Given the description of an element on the screen output the (x, y) to click on. 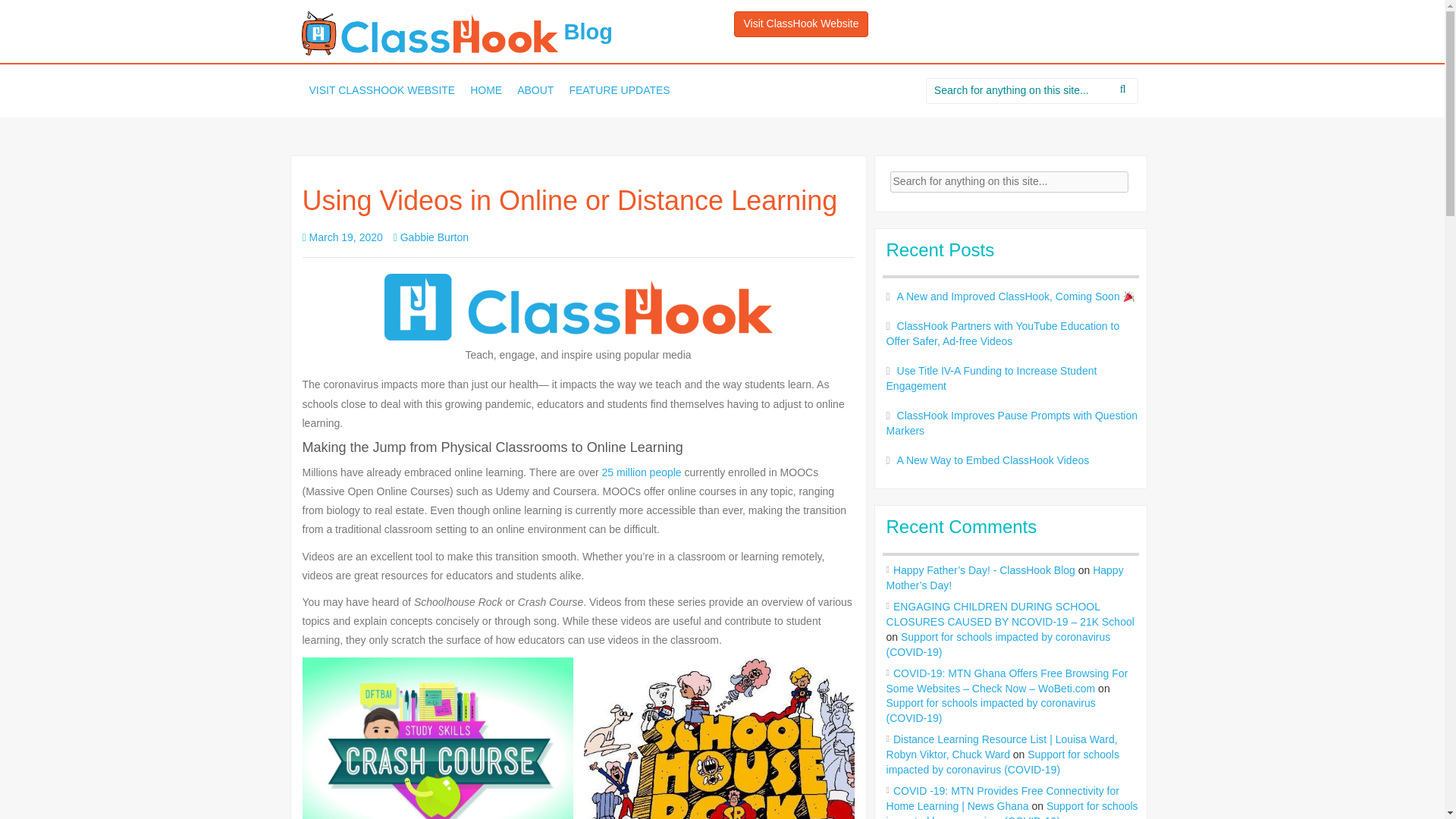
A New and Improved ClassHook, Coming Soon (1015, 296)
Blog (456, 31)
Gabbie Burton (434, 236)
FEATURE UPDATES (618, 90)
25 million people (641, 472)
March 19, 2020 (345, 236)
VISIT CLASSHOOK WEBSITE (382, 90)
ABOUT (534, 90)
ClassHook Blog  (429, 33)
ClassHook Blog (456, 31)
Visit ClassHook Website (801, 23)
